Given the description of an element on the screen output the (x, y) to click on. 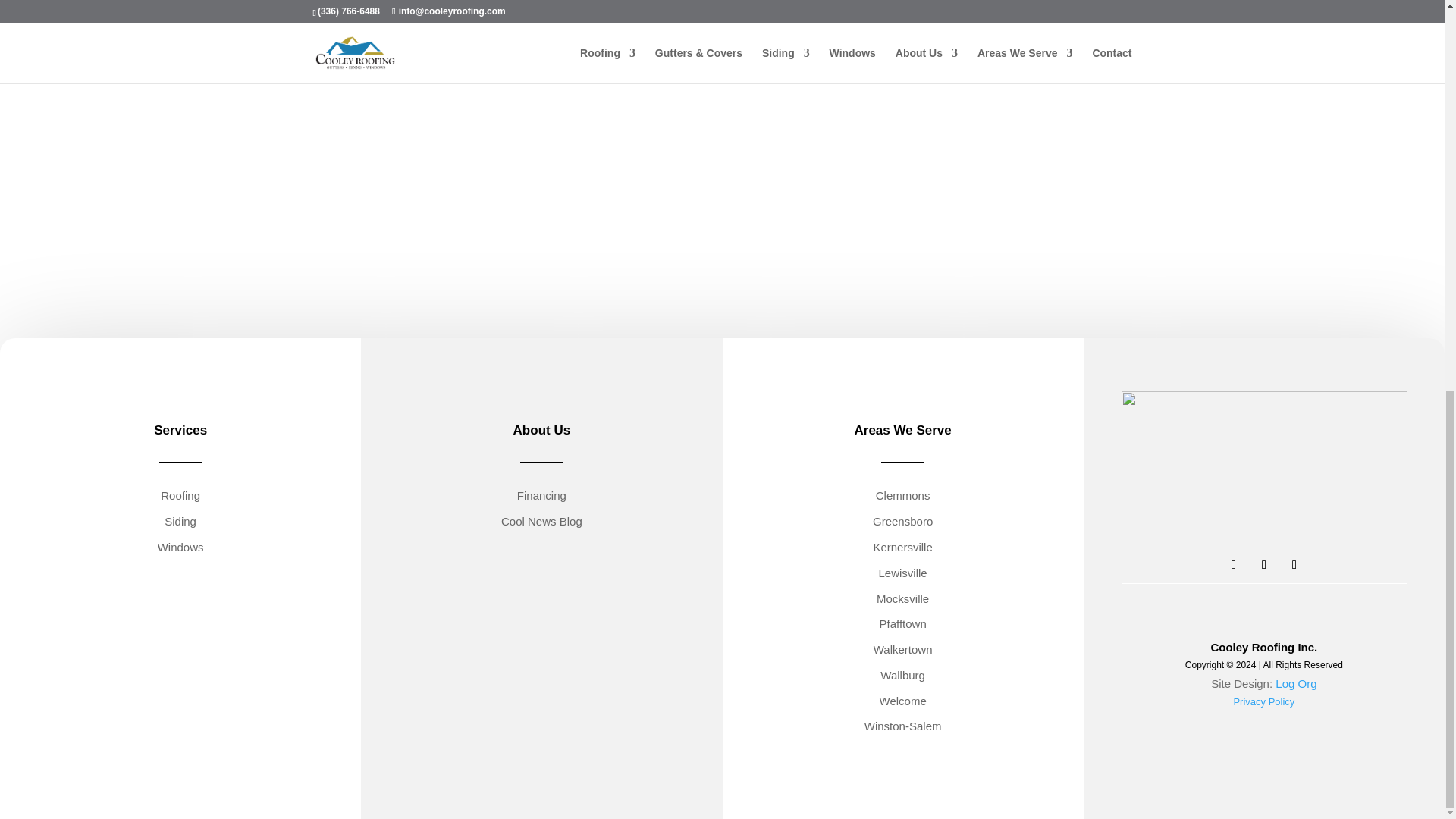
Cooley-Roofing-Black with Number 805x457 - 11.4.22 (1263, 472)
Follow on X (1264, 564)
Follow on Instagram (1294, 564)
Follow on Facebook (1233, 564)
